Given the description of an element on the screen output the (x, y) to click on. 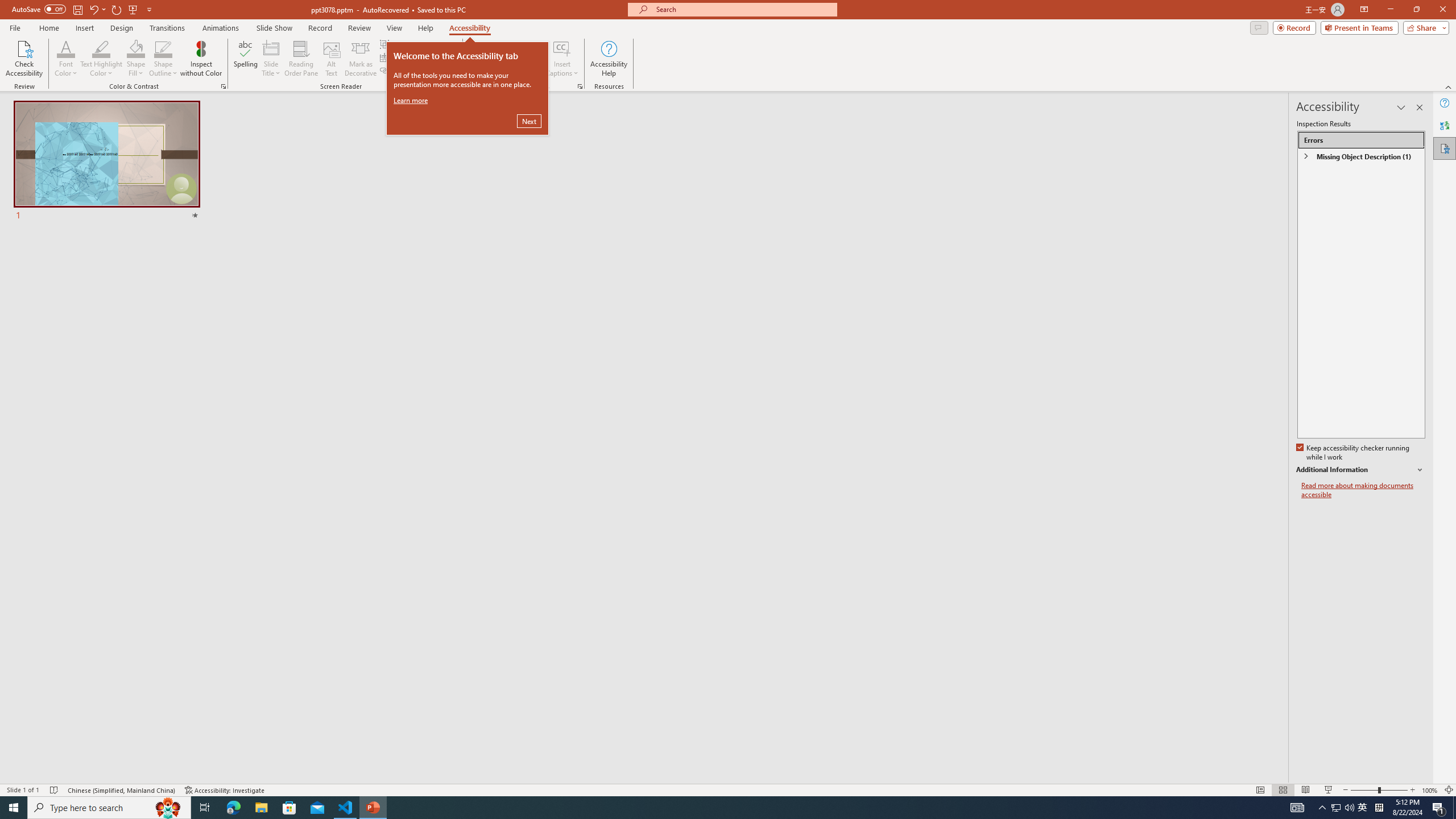
Always Use Subtitles (505, 49)
Shape Outline (163, 48)
Slide Title (271, 58)
Insert Header Row (418, 56)
Alt Text (331, 58)
Captions & Subtitles (580, 85)
Check Accessibility (23, 58)
Learn more (411, 99)
